Given the description of an element on the screen output the (x, y) to click on. 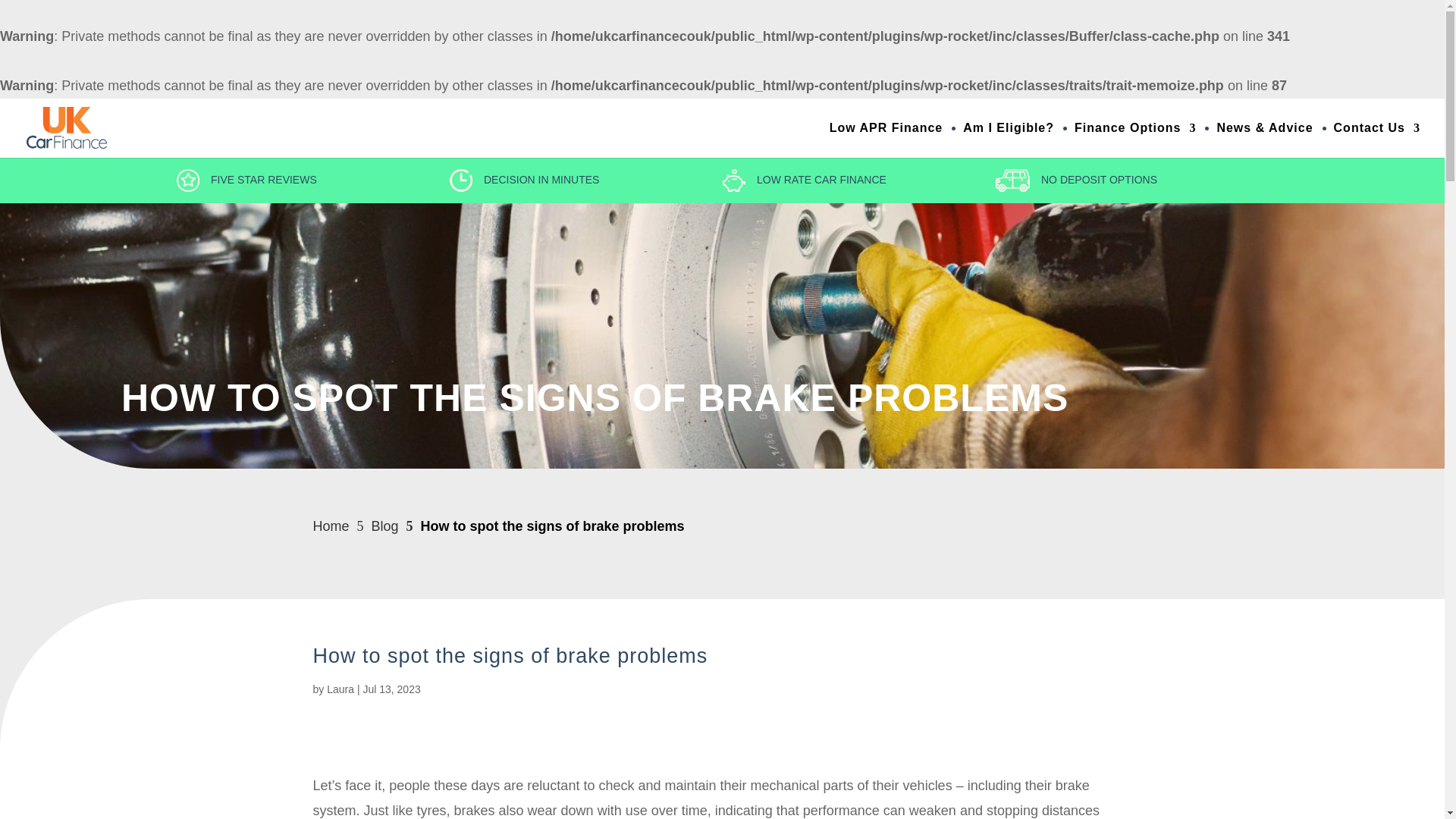
Contact Us (1377, 140)
Posts by Laura (339, 689)
Low APR Finance (886, 140)
Am I Eligible? (1008, 140)
Finance Options (1134, 140)
